Given the description of an element on the screen output the (x, y) to click on. 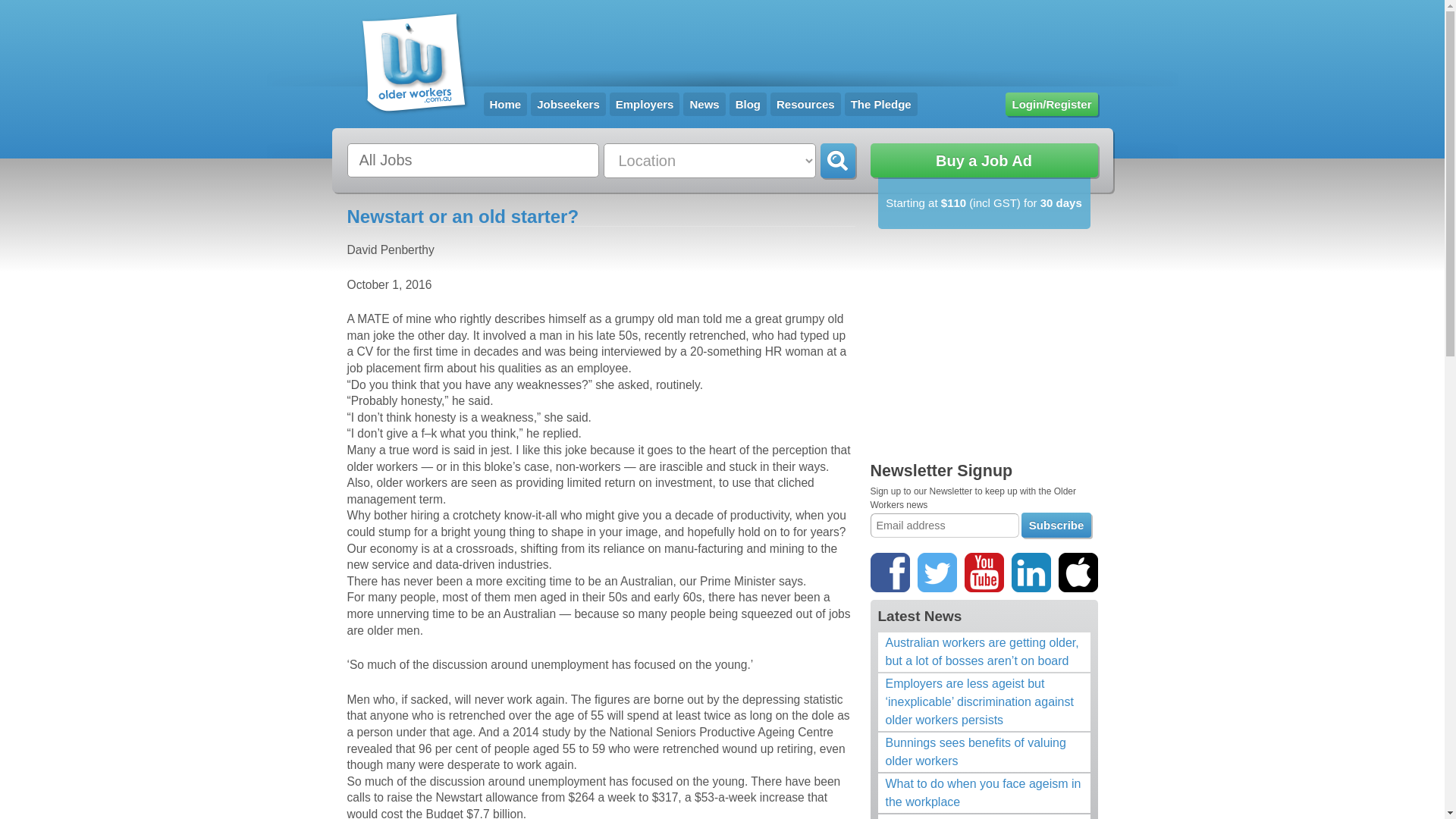
Employers Element type: text (644, 104)
Blog Element type: text (747, 104)
Buy a Job Ad Element type: text (984, 160)
Advertisement Element type: hover (984, 347)
Jobseekers Element type: text (567, 104)
Subscribe Element type: text (1056, 524)
Resources Element type: text (805, 104)
Bunnings sees benefits of valuing older workers Element type: text (984, 751)
News Element type: text (703, 104)
Go Element type: text (837, 160)
Home Element type: text (505, 104)
Login/Register Element type: text (1051, 104)
The Pledge Element type: text (880, 104)
What to do when you face ageism in the workplace Element type: text (984, 792)
